Given the description of an element on the screen output the (x, y) to click on. 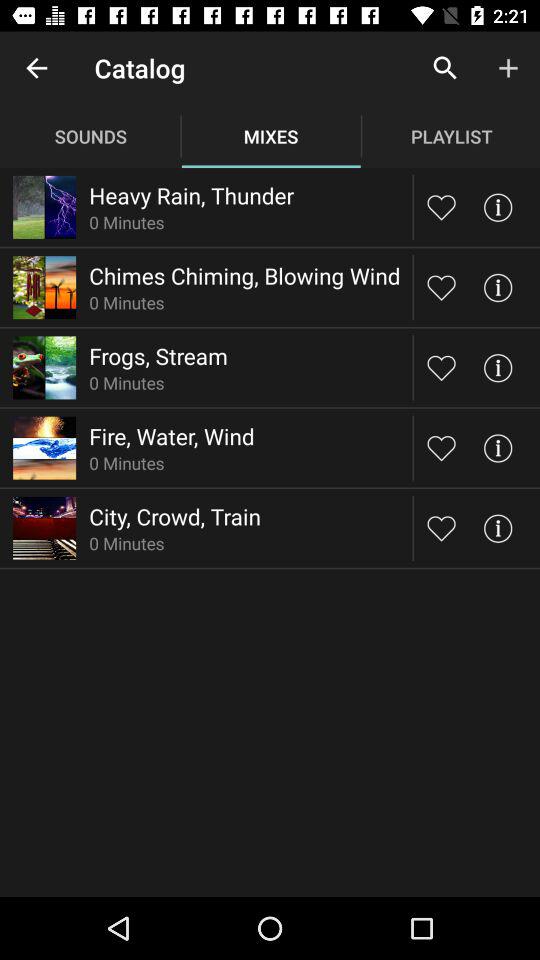
view detailed information (498, 527)
